Given the description of an element on the screen output the (x, y) to click on. 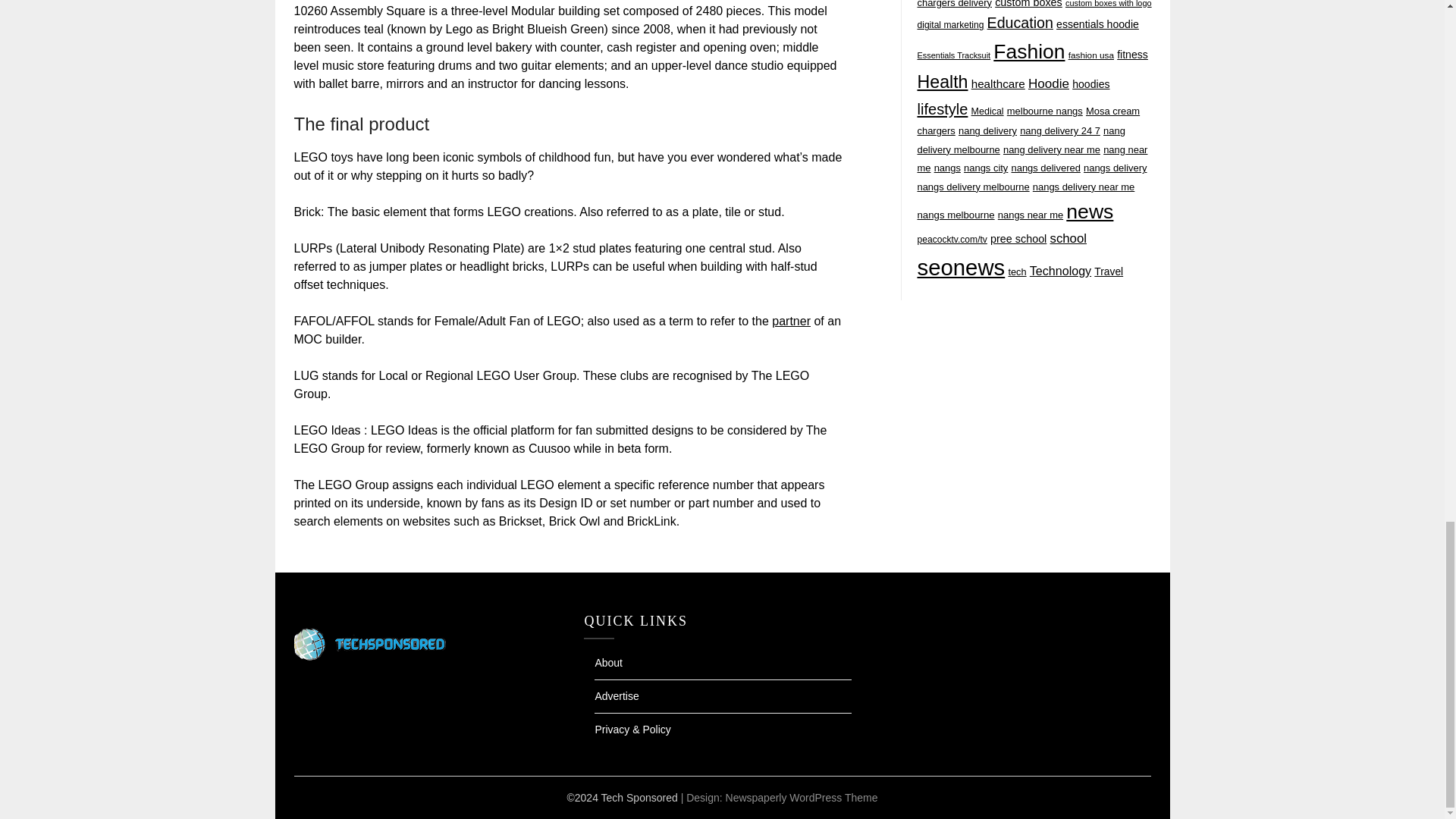
partner (790, 320)
